Given the description of an element on the screen output the (x, y) to click on. 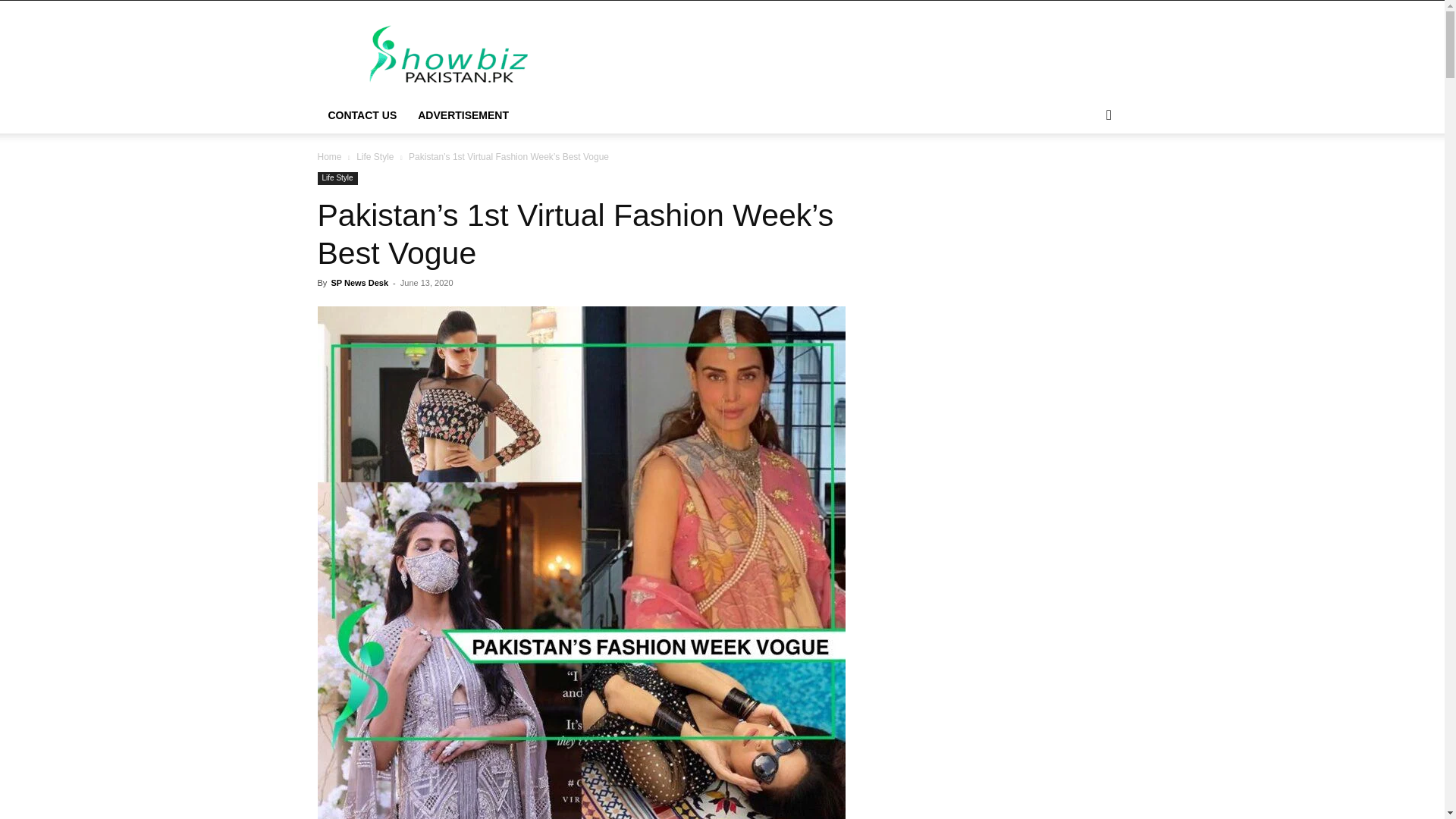
Home (328, 156)
Life Style (336, 178)
View all posts in Life Style (374, 156)
Life Style (374, 156)
ADVERTISEMENT (463, 115)
SP News Desk (359, 282)
CONTACT US (362, 115)
Search (1085, 175)
